Given the description of an element on the screen output the (x, y) to click on. 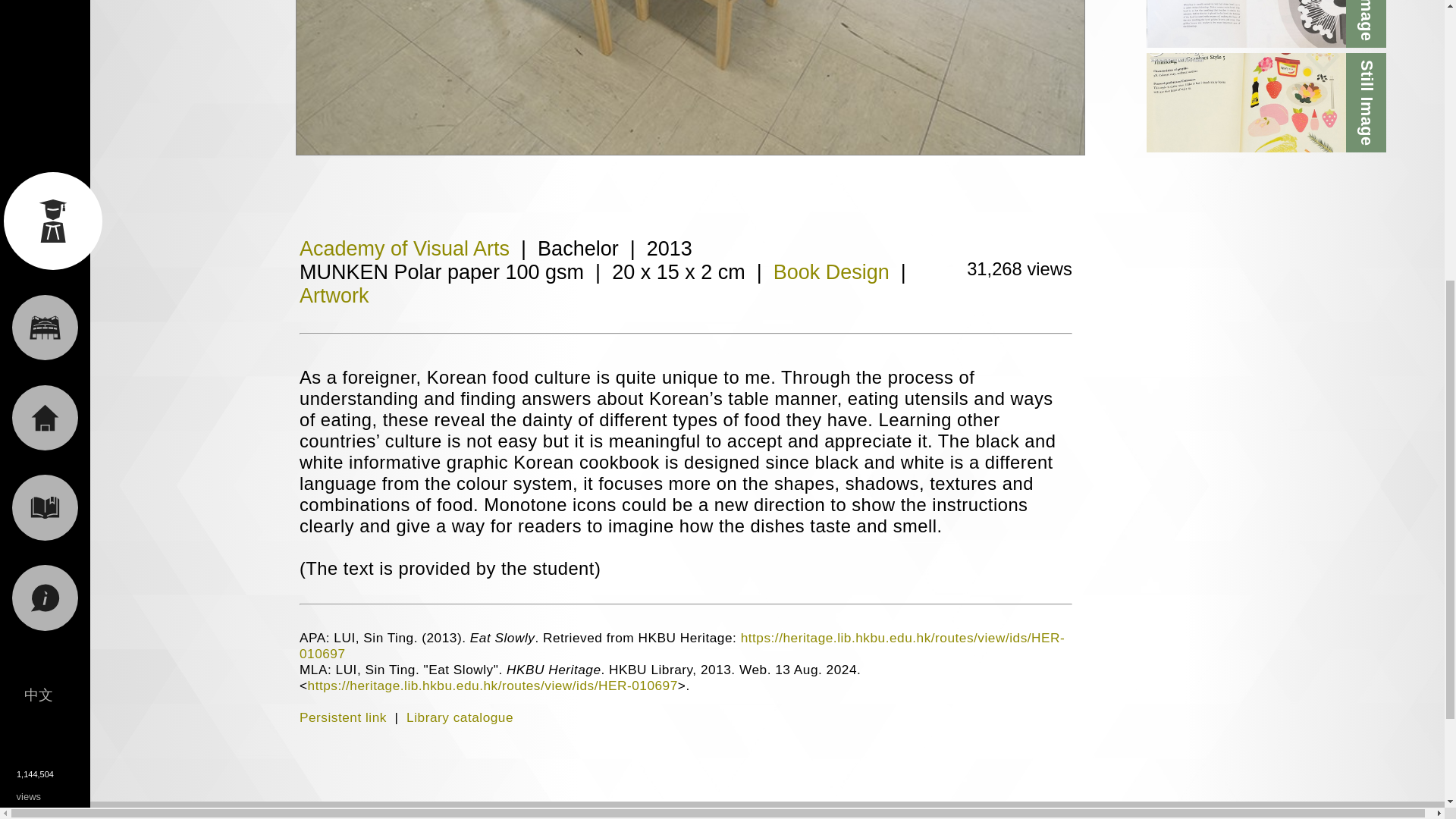
HKBU Heritage : Eat Slowly (689, 77)
Book Design (831, 272)
Persistent link (343, 717)
Academy of Visual Arts (404, 248)
Artwork (334, 295)
Library catalogue (459, 717)
